Given the description of an element on the screen output the (x, y) to click on. 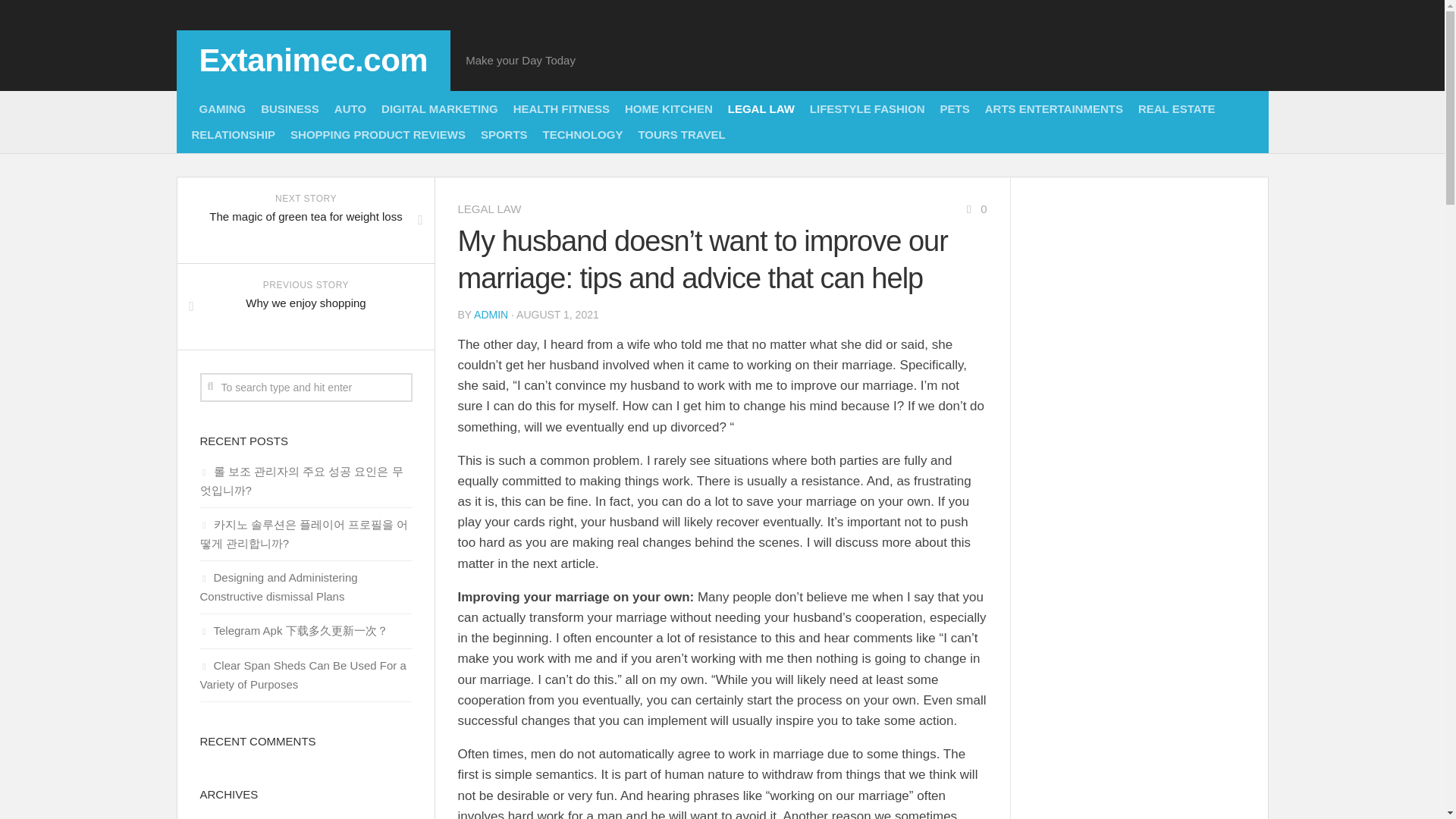
Posts by admin (491, 314)
RELATIONSHIP (232, 134)
LEGAL LAW (489, 208)
GAMING (222, 109)
To search type and hit enter (306, 387)
ADMIN (491, 314)
Extanimec.com (313, 60)
SHOPPING PRODUCT REVIEWS (377, 134)
TECHNOLOGY (583, 134)
DIGITAL MARKETING (306, 220)
REAL ESTATE (439, 109)
TOURS TRAVEL (1176, 109)
PETS (681, 134)
LIFESTYLE FASHION (954, 109)
